Given the description of an element on the screen output the (x, y) to click on. 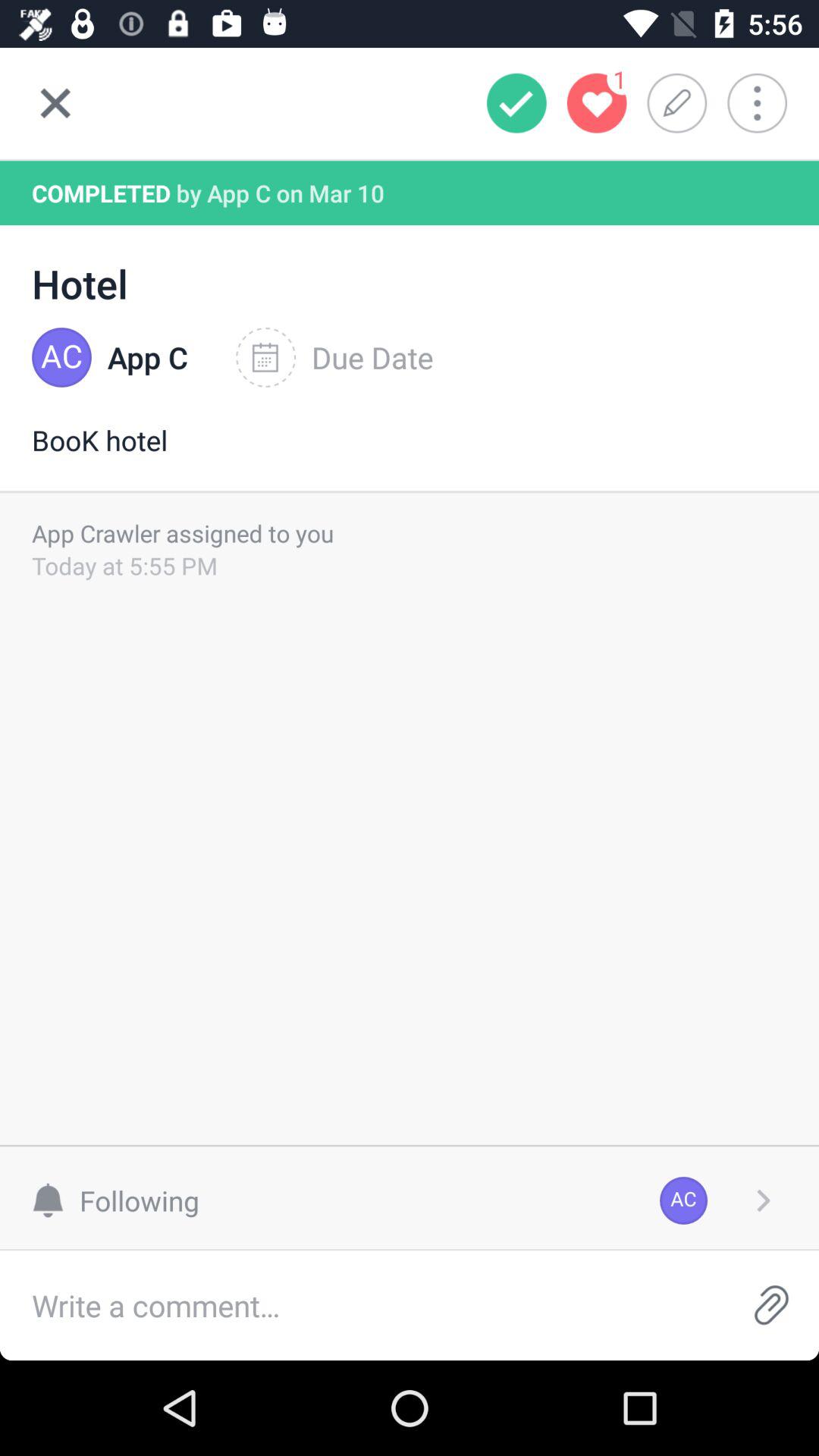
choose the item next to the ac (763, 1200)
